Given the description of an element on the screen output the (x, y) to click on. 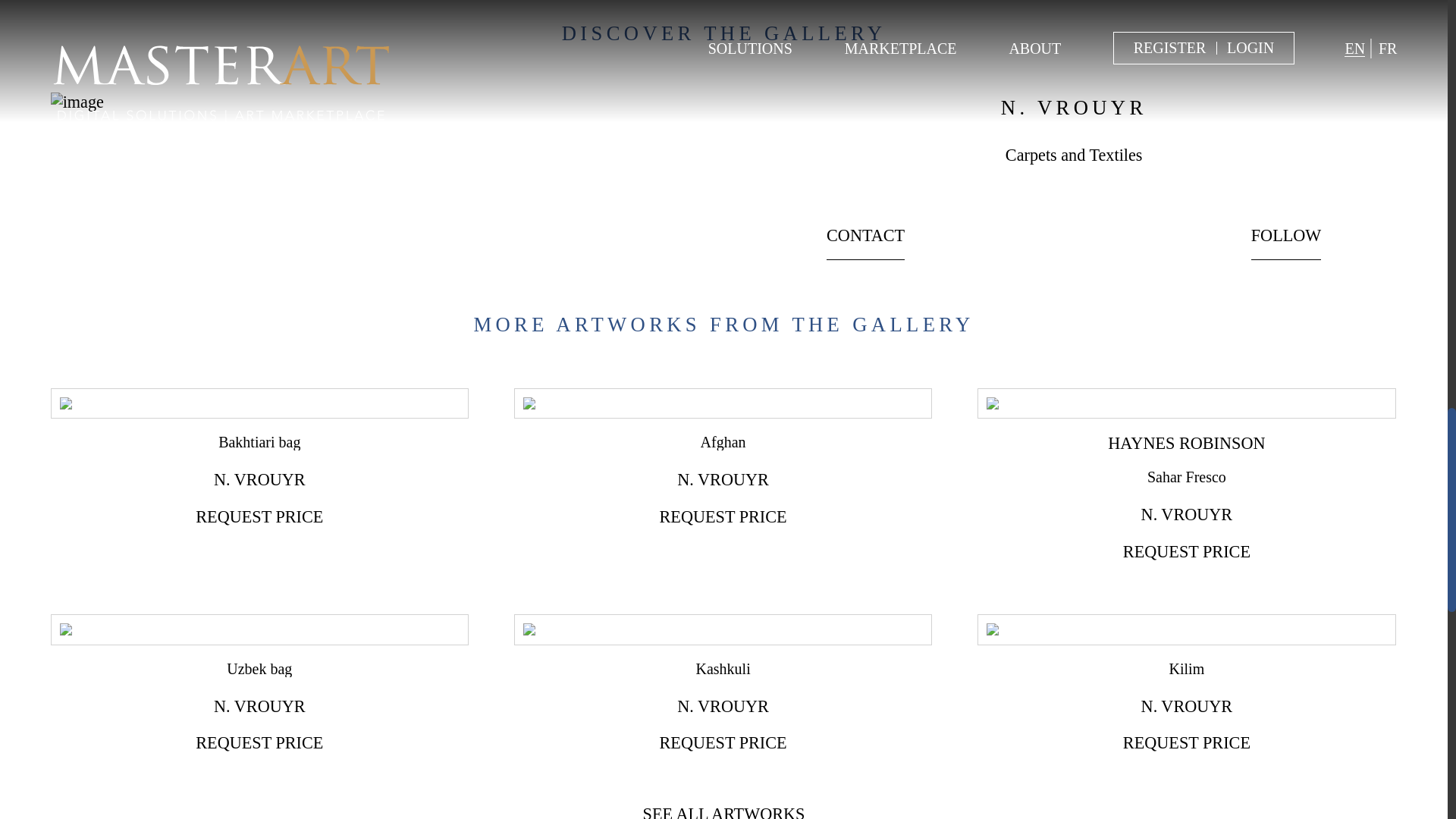
CONTACT (865, 242)
FOLLOW (1286, 242)
Bakhtiari bag (258, 442)
N. VROUYR (259, 479)
Afghan (722, 442)
N. VROUYR (722, 479)
